Given the description of an element on the screen output the (x, y) to click on. 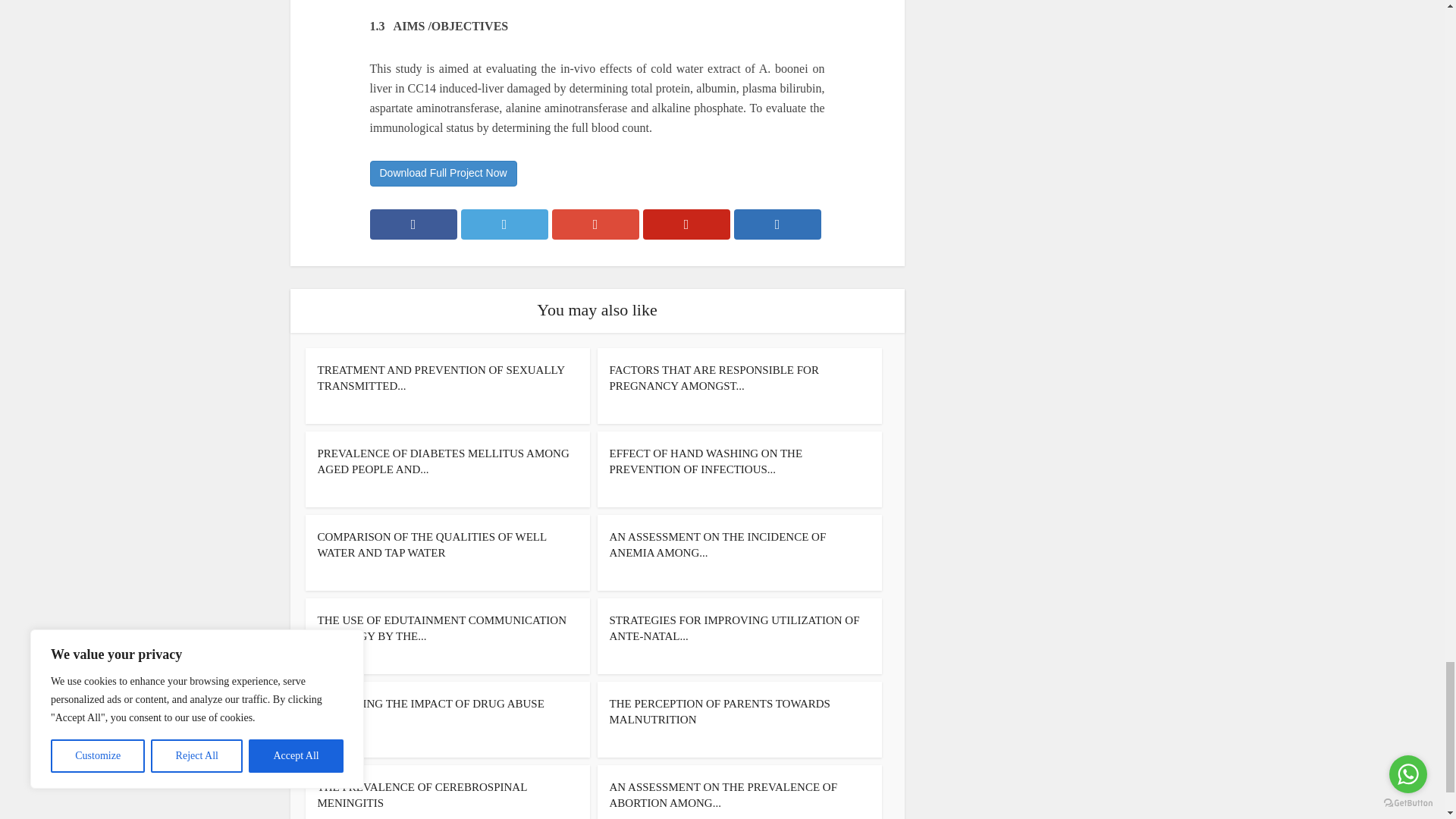
TREATMENT AND PREVENTION OF SEXUALLY TRANSMITTED DISEASES (440, 377)
FACTORS THAT ARE RESPONSIBLE FOR PREGNANCY AMONGST... (714, 377)
THE PREVALENCE OF CEREBROSPINAL MENINGITIS (421, 794)
Download Full Project Now (442, 173)
THE PERCEPTION OF PARENTS TOWARDS MALNUTRITION (719, 710)
COMPARISON OF THE QUALITIES OF WELL WATER AND TAP WATER (431, 543)
EXAMINING THE IMPACT OF DRUG ABUSE (430, 703)
EFFECT OF HAND WASHING ON THE PREVENTION OF INFECTIOUS... (706, 461)
PREVALENCE OF DIABETES MELLITUS AMONG AGED PEOPLE AND... (443, 461)
TREATMENT AND PREVENTION OF SEXUALLY TRANSMITTED... (440, 377)
